Given the description of an element on the screen output the (x, y) to click on. 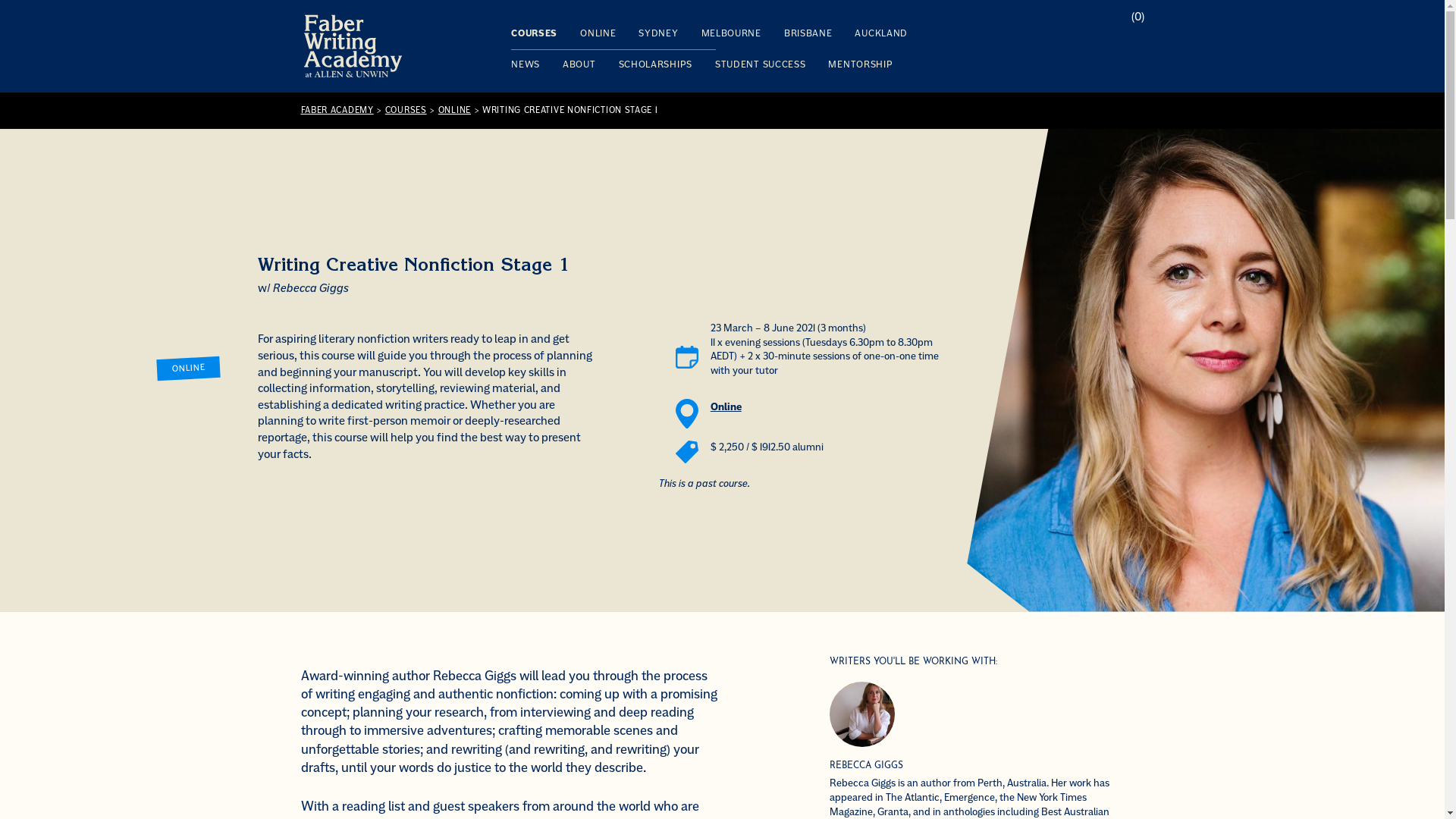
REBECCA GIGGS Element type: text (866, 765)
NEWS Element type: text (525, 64)
Online Element type: text (725, 406)
ONLINE Element type: text (454, 110)
STUDENT SUCCESS Element type: text (760, 64)
SYDNEY Element type: text (658, 33)
FABER ACADEMY Element type: text (336, 110)
(0) Element type: text (1137, 16)
COURSES Element type: text (533, 33)
MELBOURNE Element type: text (731, 33)
BRISBANE Element type: text (808, 33)
ONLINE Element type: text (597, 33)
MENTORSHIP Element type: text (859, 64)
AUCKLAND Element type: text (881, 33)
SCHOLARSHIPS Element type: text (655, 64)
COURSES Element type: text (405, 110)
ABOUT Element type: text (579, 64)
